Given the description of an element on the screen output the (x, y) to click on. 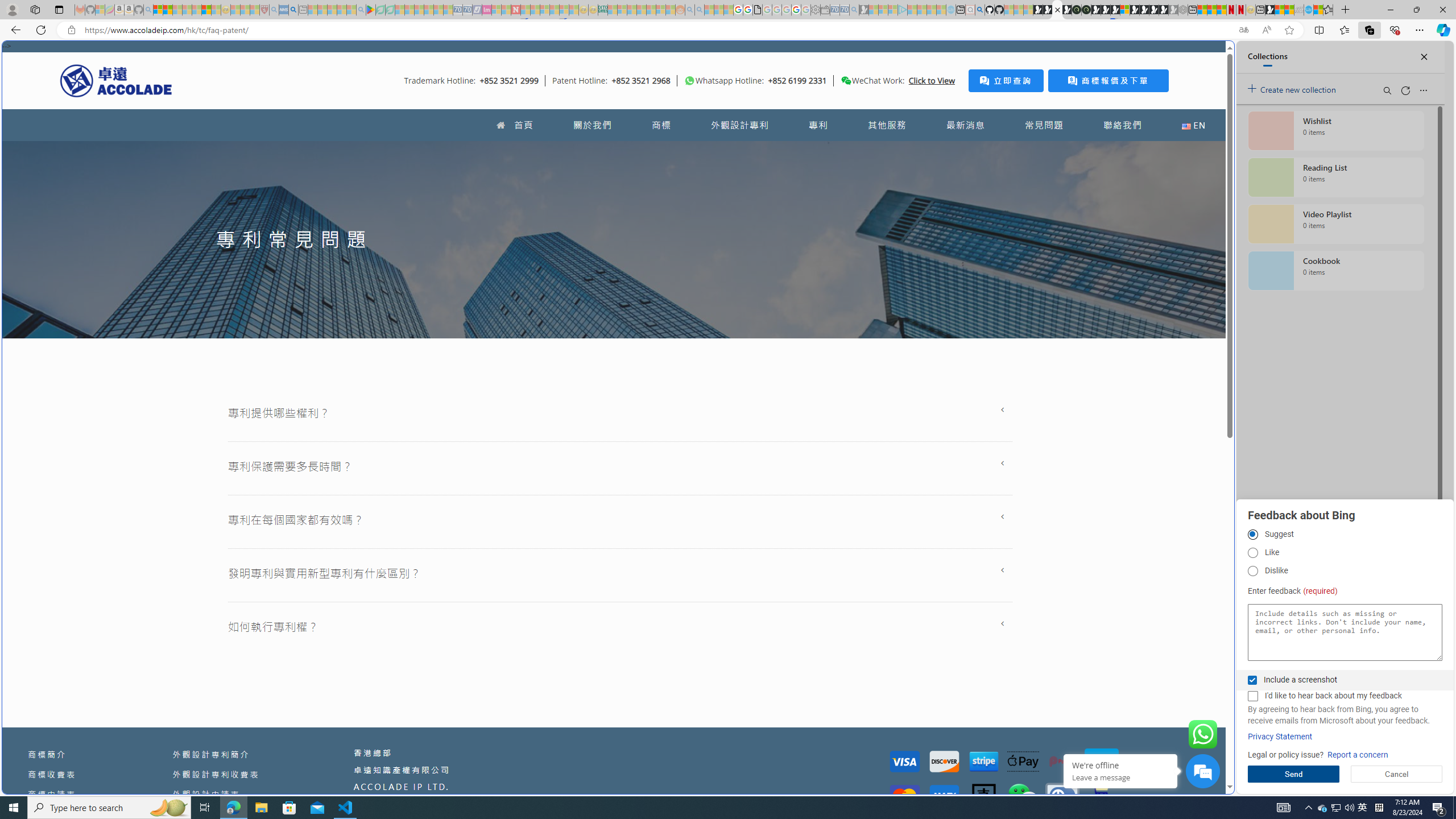
Tabs you've opened (885, 151)
Sign in to your account (1124, 9)
Jobs - lastminute.com Investor Portal - Sleeping (486, 9)
google_privacy_policy_zh-CN.pdf (1118, 683)
Close split screen (1208, 57)
